Given the description of an element on the screen output the (x, y) to click on. 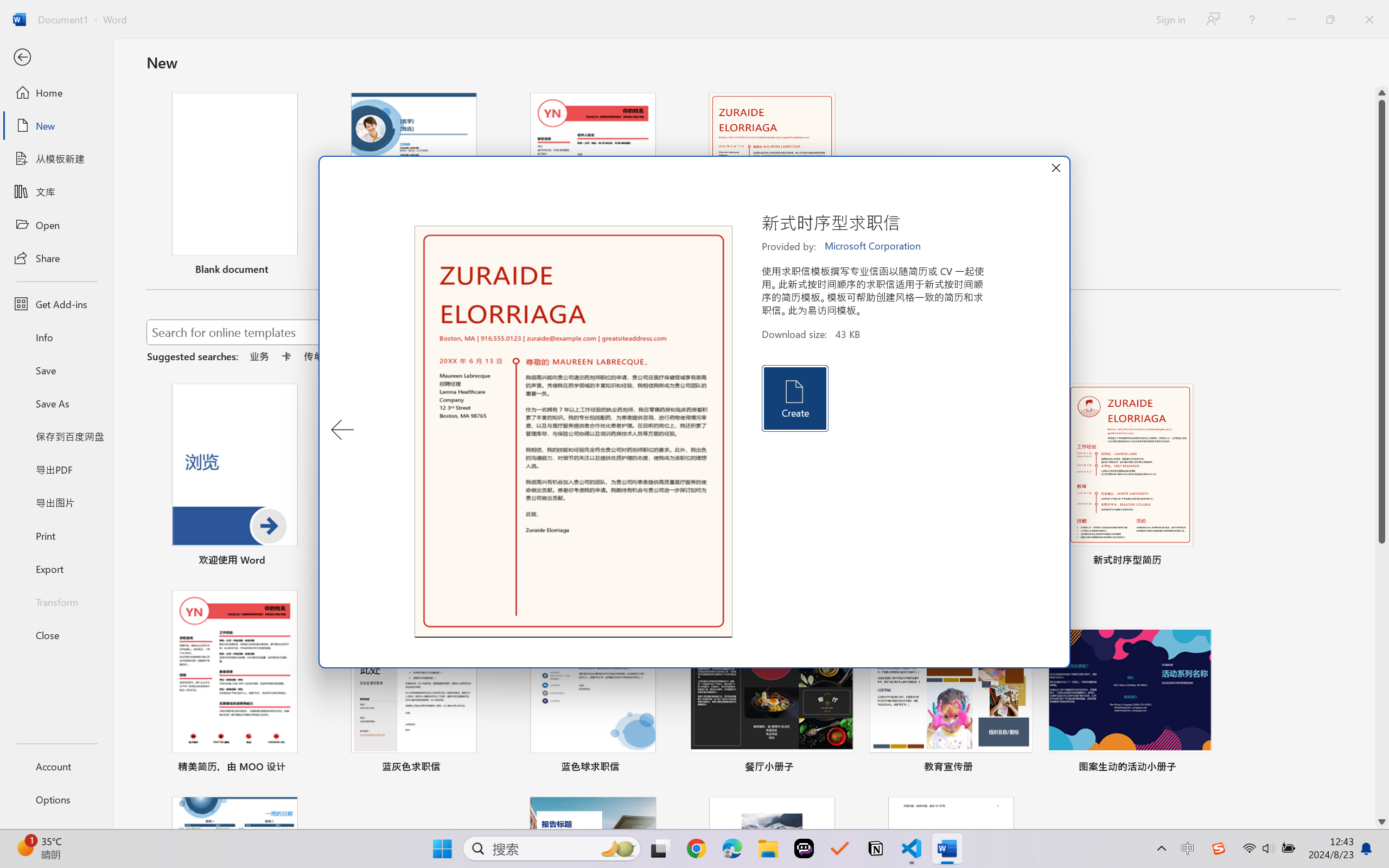
Print (56, 535)
Create (794, 398)
Line down (1382, 821)
Export (56, 568)
Info (56, 337)
Transform (56, 601)
